Given the description of an element on the screen output the (x, y) to click on. 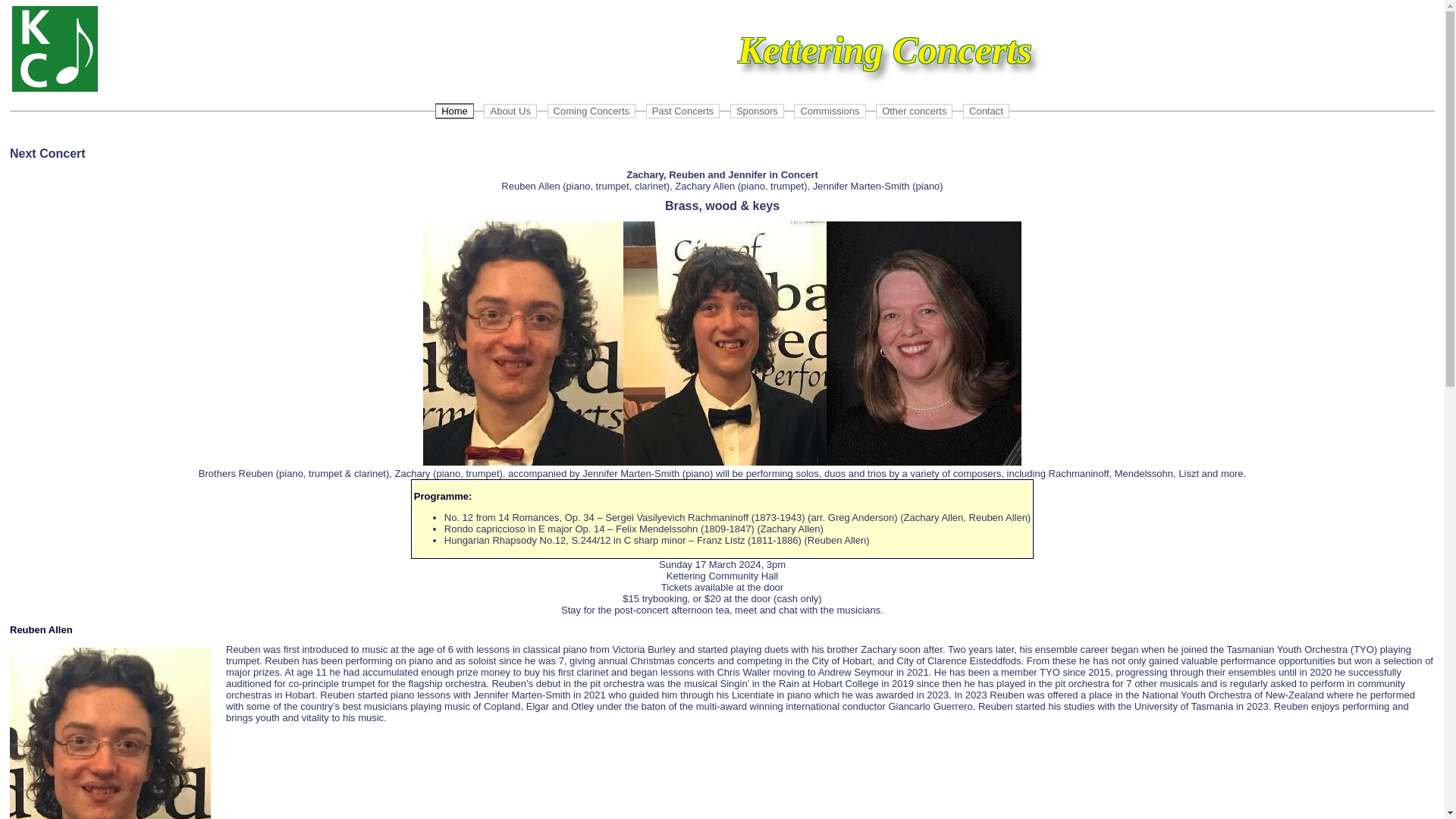
Commissions Element type: text (829, 110)
Coming Concerts Element type: text (591, 110)
About Us Element type: text (509, 110)
Kettering Concerts Element type: hover (54, 48)
Other concerts Element type: text (913, 110)
Past Concerts Element type: text (683, 110)
Contact Element type: text (986, 110)
Home Element type: text (454, 111)
Sponsors Element type: text (757, 110)
